Given the description of an element on the screen output the (x, y) to click on. 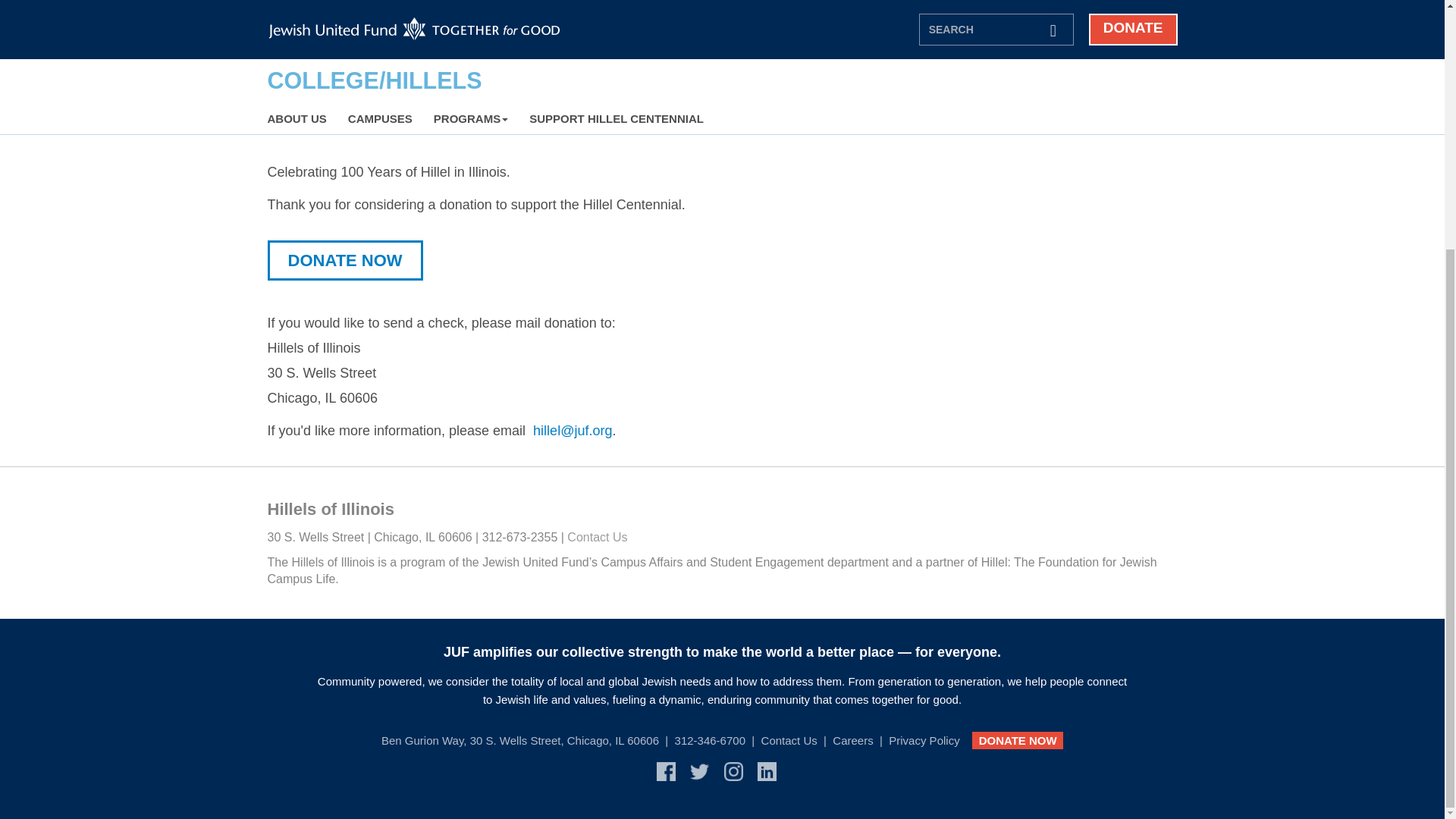
Privacy Policy (923, 740)
JUF Facebook (673, 770)
  DONATE NOW   (1017, 740)
Twitter (706, 770)
JUF Instagram (740, 770)
Travel to Israel (1096, 40)
Careers (852, 740)
Donate Now (1017, 740)
Contact Us (788, 740)
Careers (852, 740)
JUF LinkedIn (772, 770)
Call 312-346-6700 (710, 740)
Contact Us   (571, 430)
Contact Us (788, 740)
Privacy Policy (923, 740)
